Given the description of an element on the screen output the (x, y) to click on. 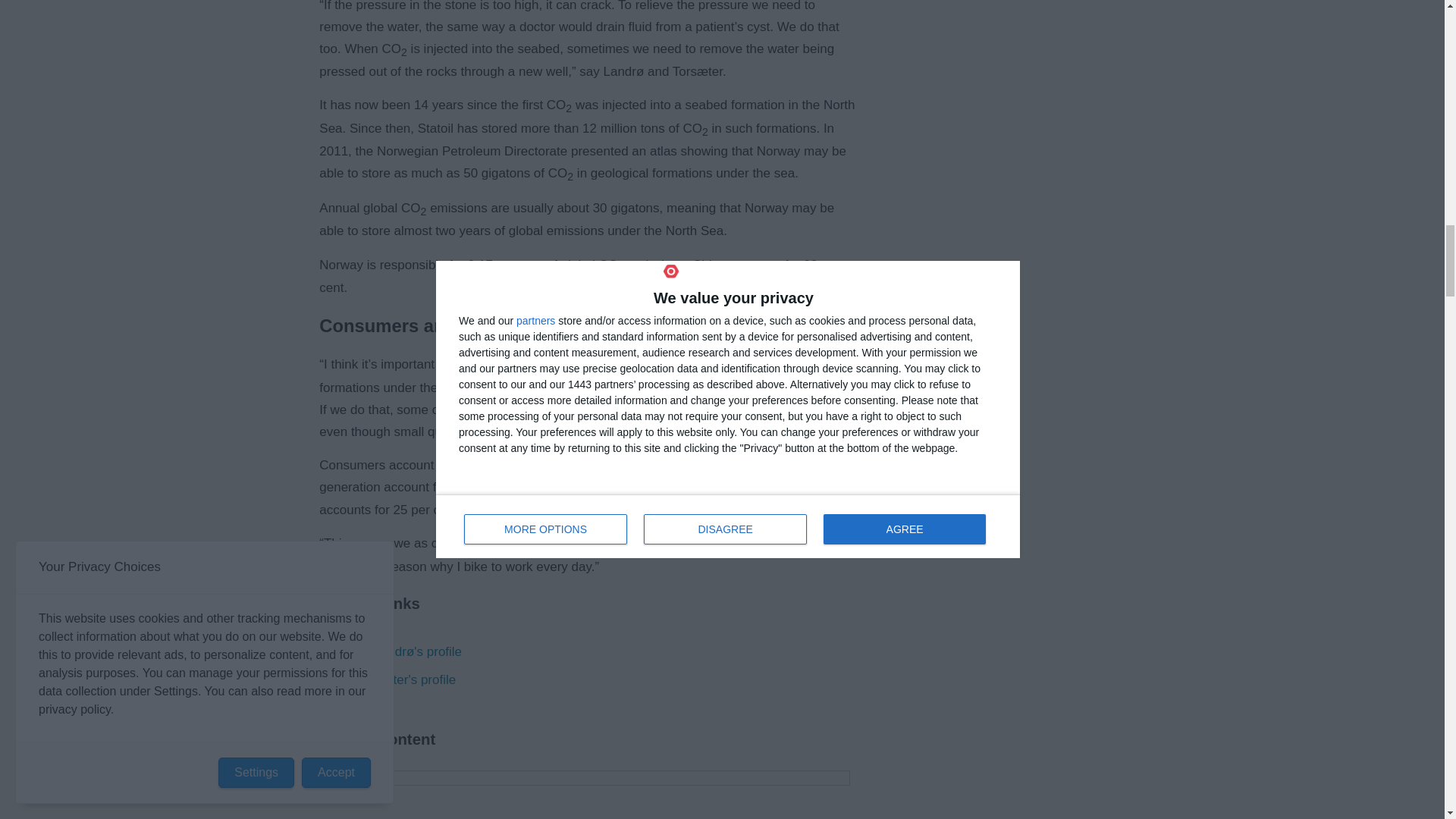
CO2 is confusing fish (584, 794)
